Given the description of an element on the screen output the (x, y) to click on. 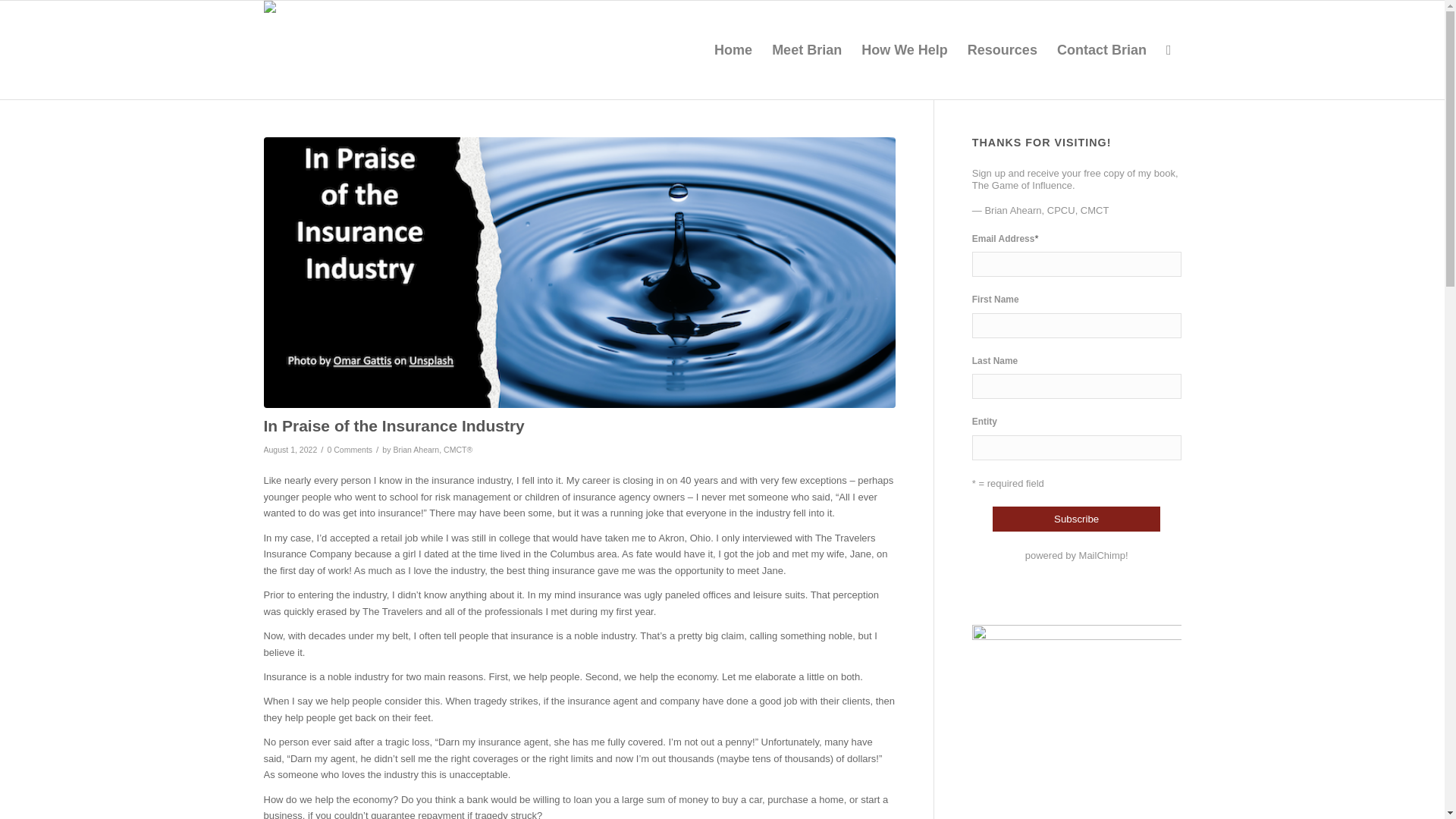
logo-2024 (309, 15)
Meet Brian (806, 49)
Subscribe (1076, 518)
How We Help (904, 49)
Contact Brian (1101, 49)
0 Comments (349, 449)
Subscribe (1076, 518)
MailChimp (1101, 555)
Resources (1002, 49)
